Given the description of an element on the screen output the (x, y) to click on. 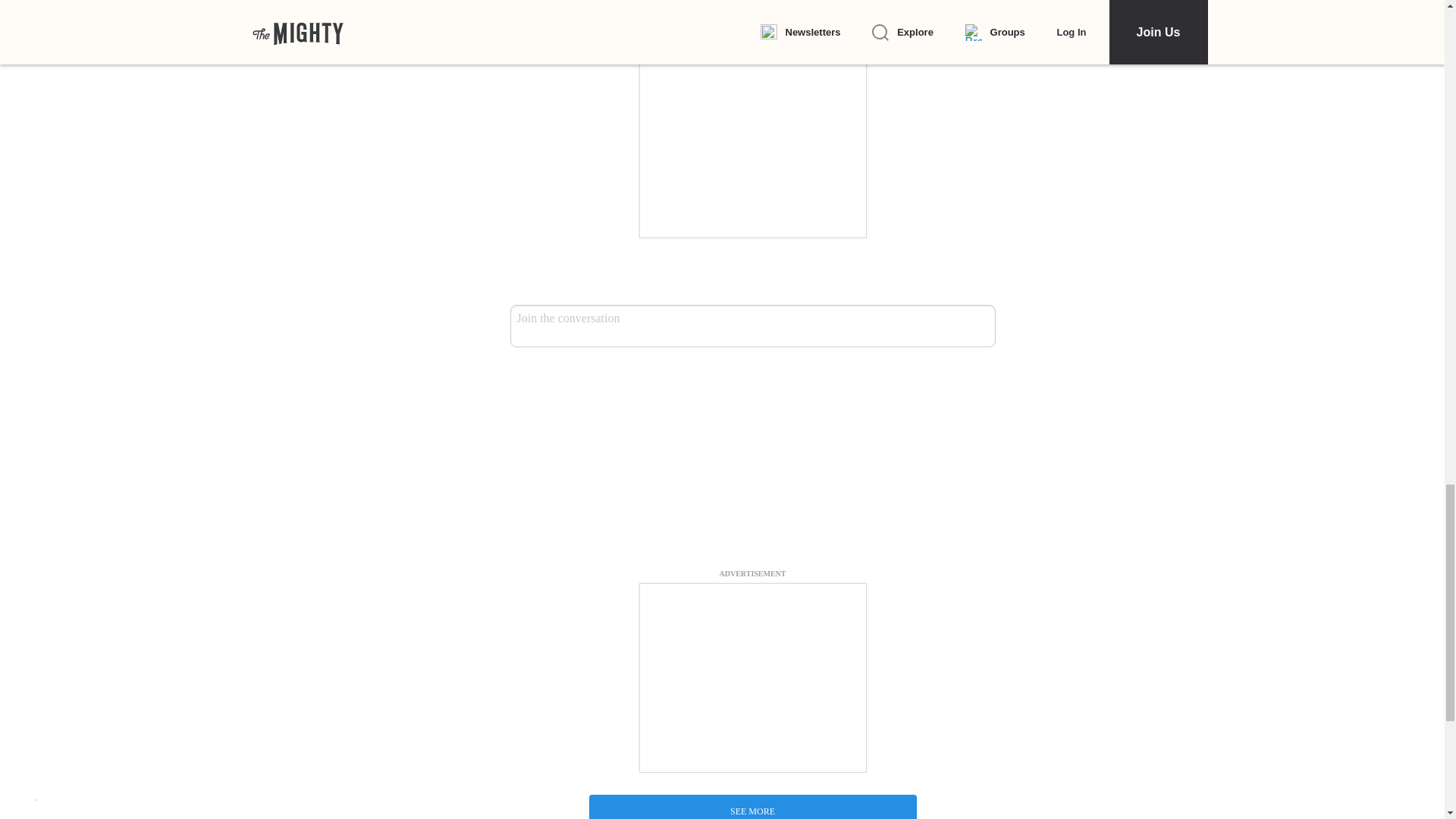
SEE MORE (751, 806)
